Given the description of an element on the screen output the (x, y) to click on. 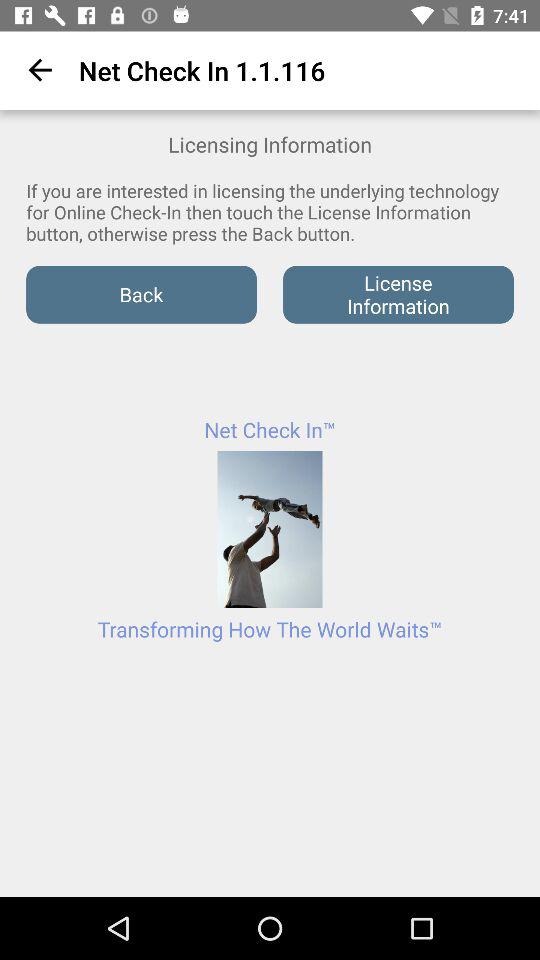
press the app next to the net check in icon (36, 70)
